Given the description of an element on the screen output the (x, y) to click on. 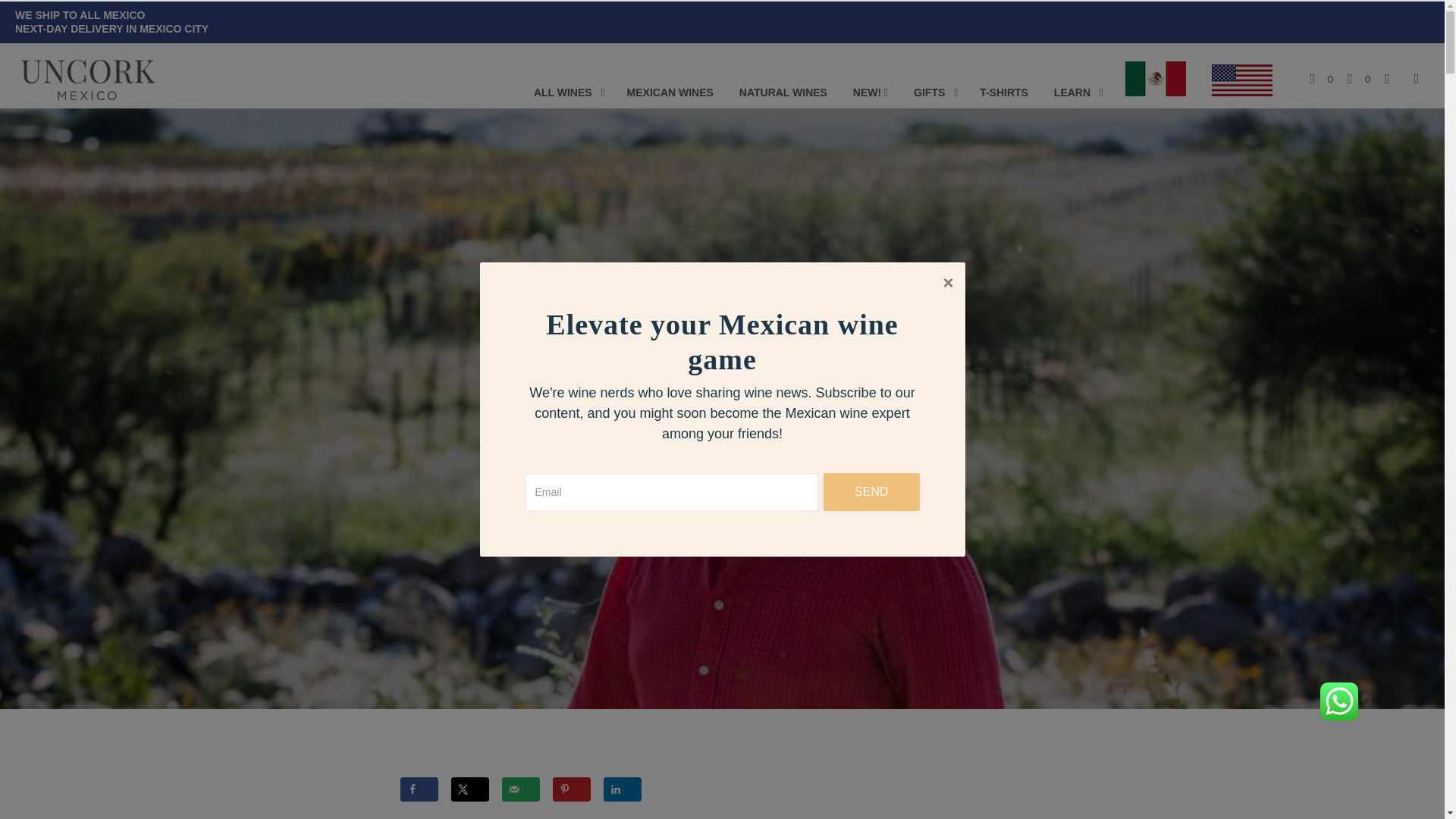
ALL WINES (563, 92)
Share on LinkedIn (623, 789)
Share on Facebook (419, 789)
Share on X (468, 789)
Send over email (521, 789)
Save to Pinterest (570, 789)
